Given the description of an element on the screen output the (x, y) to click on. 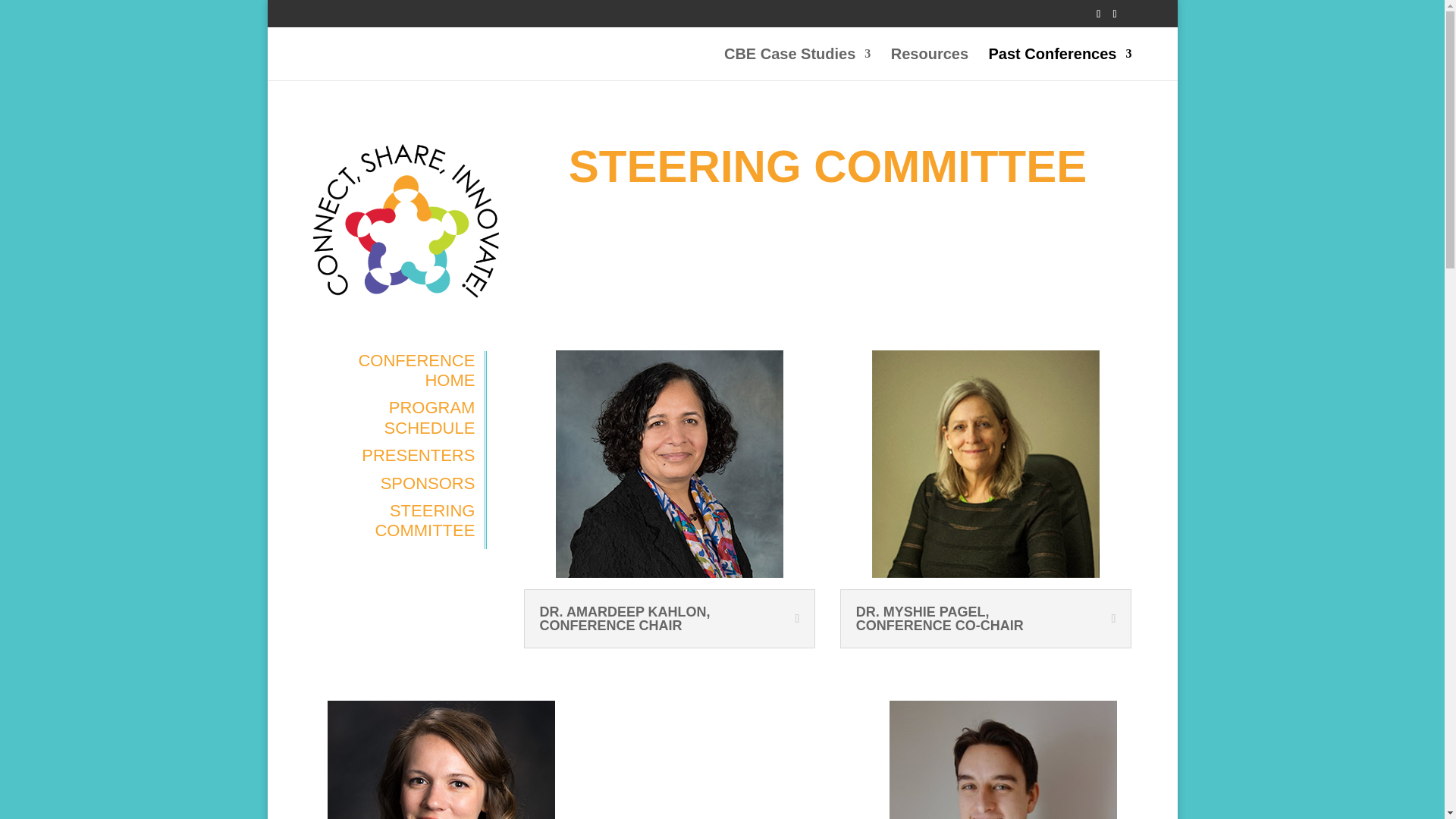
Past Conferences (1060, 64)
CBE Case Studies (796, 64)
Case Studies (796, 64)
Resources (929, 64)
